Given the description of an element on the screen output the (x, y) to click on. 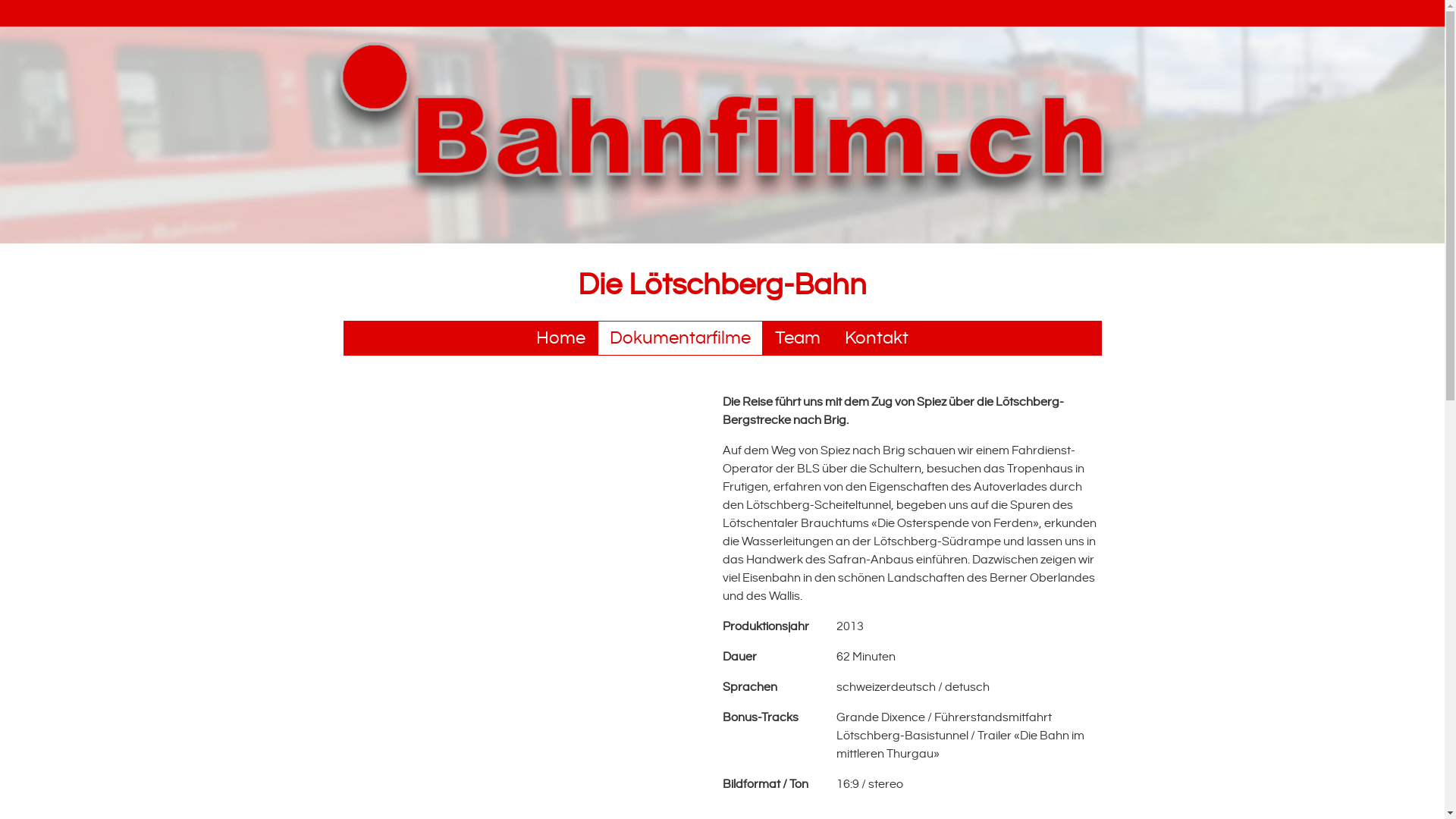
Home Element type: text (560, 337)
Kontakt Element type: text (876, 337)
Dokumentarfilme Element type: text (679, 337)
Bahnfilm.ch Element type: hover (722, 134)
Team Element type: text (797, 337)
Home Element type: hover (722, 239)
